Given the description of an element on the screen output the (x, y) to click on. 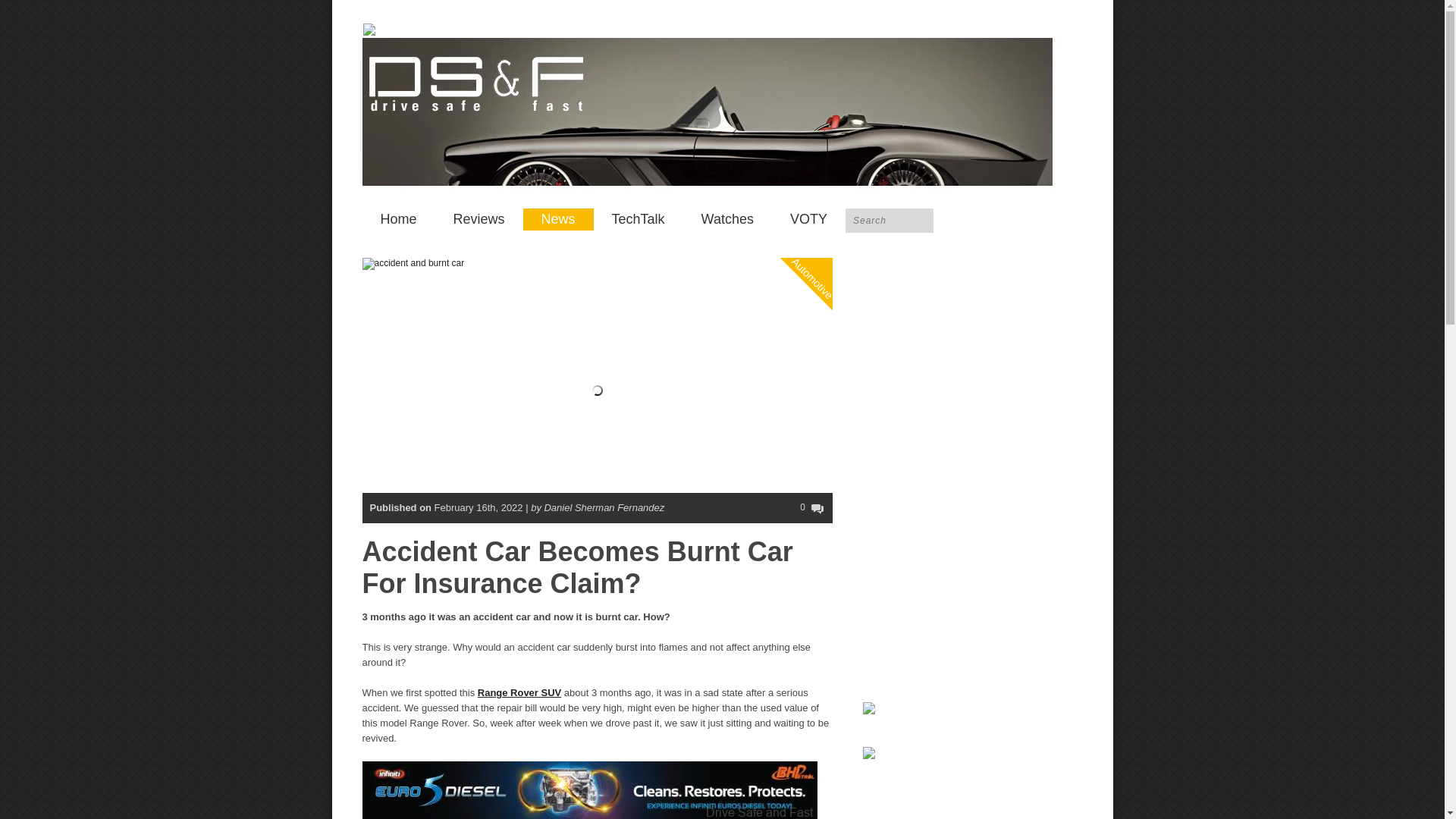
TechTalk (638, 219)
News (558, 219)
Automotive (828, 216)
Watches (726, 219)
Range Rover SUV (518, 692)
Home (398, 219)
VOTY (808, 219)
Reviews (478, 219)
